Given the description of an element on the screen output the (x, y) to click on. 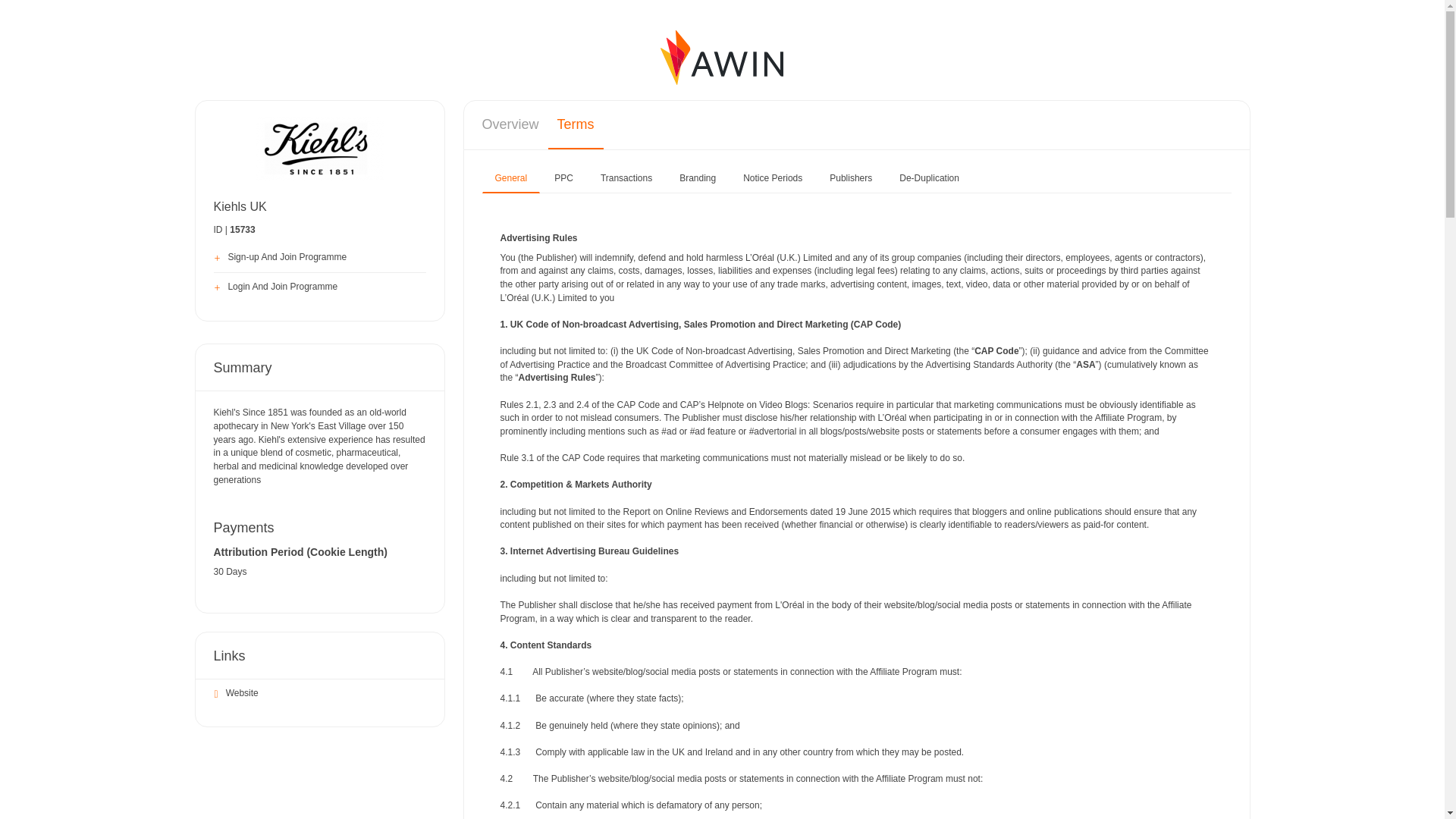
Publishers (850, 178)
Notice Periods (772, 178)
Overview (510, 124)
Sign-up And Join Programme (320, 258)
PPC (563, 178)
Transactions (626, 178)
Branding (697, 178)
Login And Join Programme (320, 287)
Website (320, 694)
Terms (576, 124)
De-Duplication (929, 178)
General (510, 179)
